Given the description of an element on the screen output the (x, y) to click on. 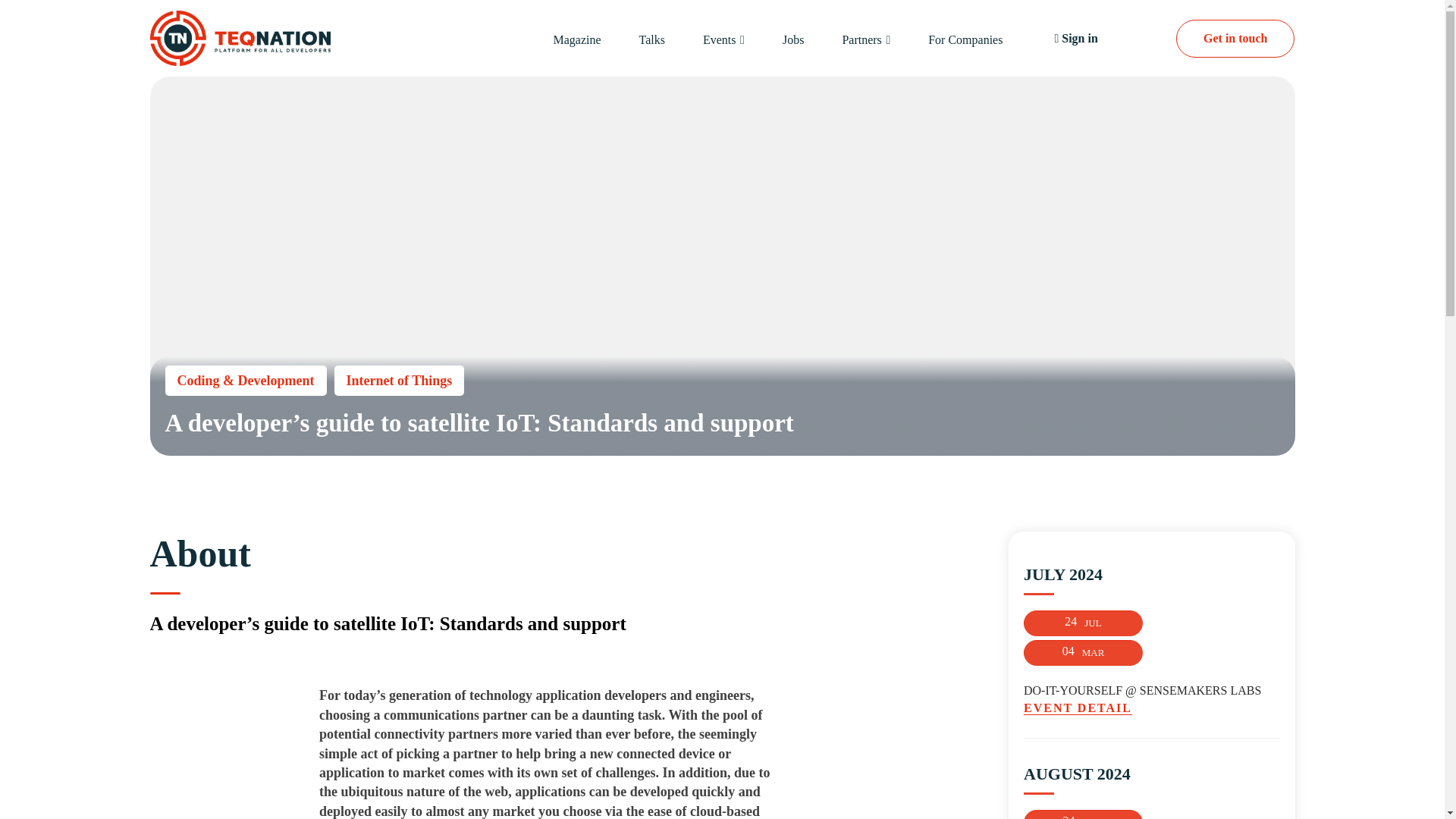
Talks (652, 39)
Events (719, 39)
Partners (860, 39)
Magazine (576, 39)
Internet of Things (398, 380)
Sign in (1075, 38)
Jobs (793, 39)
Get in touch (1235, 38)
EVENT DETAIL (1151, 707)
For Companies (965, 39)
